Given the description of an element on the screen output the (x, y) to click on. 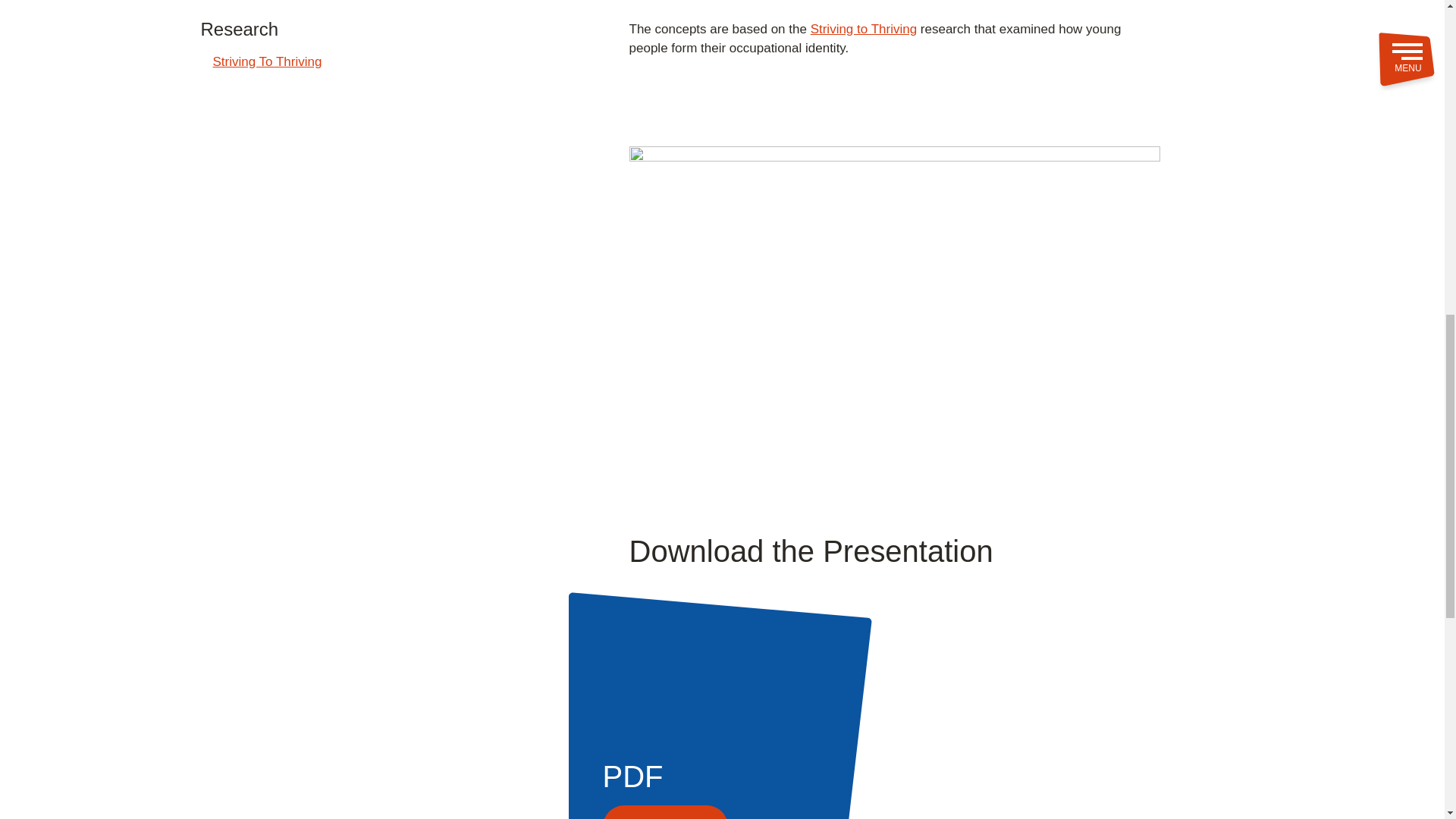
Striving To Thriving (266, 62)
Download (1011, 812)
Striving to Thriving (863, 29)
Download (665, 812)
Youth Quote Library (269, 1)
